Given the description of an element on the screen output the (x, y) to click on. 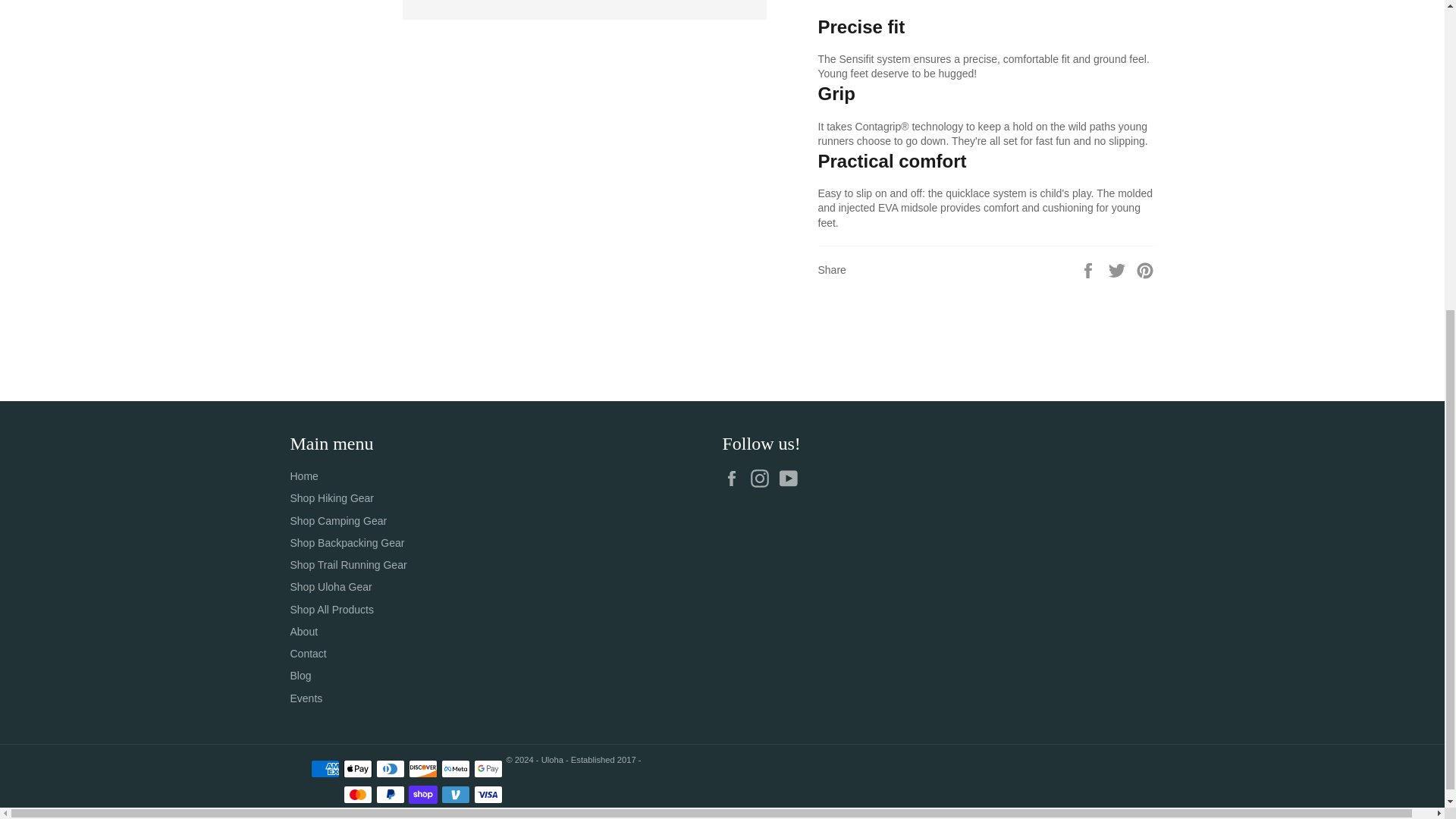
Uloha on YouTube (791, 478)
Share on Facebook (1089, 269)
Tweet on Twitter (1118, 269)
Uloha on Facebook (735, 478)
Uloha on Instagram (763, 478)
Pin on Pinterest (1144, 269)
